Given the description of an element on the screen output the (x, y) to click on. 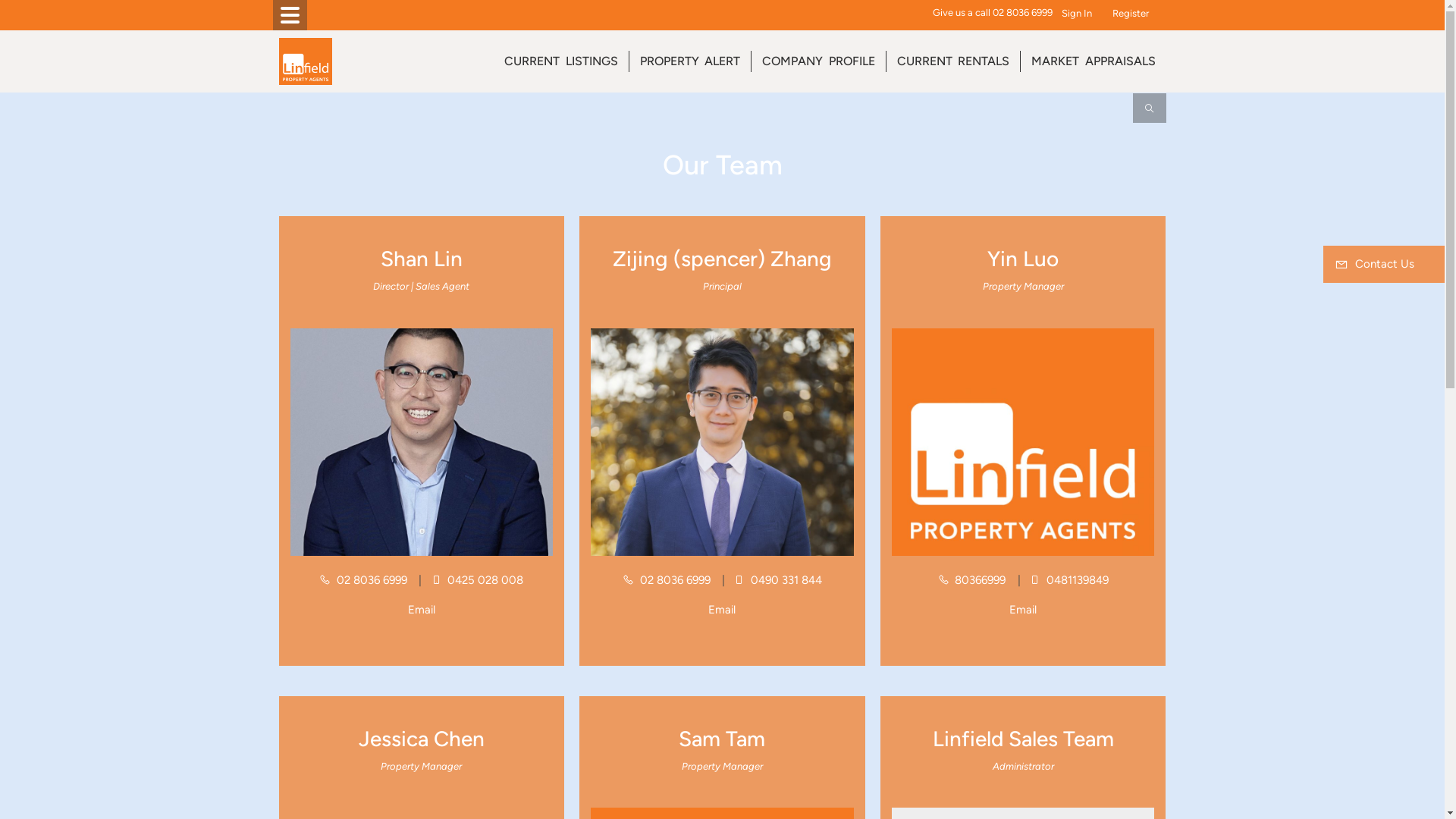
0490 331 844 Element type: text (777, 579)
Property Manager Element type: text (420, 765)
COMPANY
PROFILE Element type: text (818, 61)
Give us a call 02 8036 6999 Element type: text (992, 13)
Contact Us Element type: text (1383, 263)
MARKET
APPRAISALS Element type: text (1093, 61)
02 8036 6999 Element type: text (667, 579)
Principal Element type: text (721, 285)
Shan Lin Element type: text (420, 259)
Zijing (spencer) Zhang Element type: text (721, 259)
Login Element type: text (1122, 14)
80366999 Element type: text (973, 579)
Yin Luo Element type: text (1022, 259)
Sam Tam Element type: text (721, 739)
Linfield Sales Team Element type: text (1022, 739)
Email Element type: text (1022, 609)
Email Element type: text (721, 609)
Jessica Chen Element type: text (420, 739)
0425 028 008 Element type: text (477, 579)
0481139849 Element type: text (1068, 579)
PROPERTY
ALERT Element type: text (690, 61)
Email Element type: text (421, 609)
CURRENT
LISTINGS Element type: text (560, 61)
Property Manager Element type: text (1022, 285)
02 8036 6999 Element type: text (364, 579)
Register Element type: text (1130, 13)
Administrator Element type: text (1023, 765)
Director | Sales Agent Element type: text (421, 285)
? Element type: text (1155, 14)
Property Manager Element type: text (721, 765)
CURRENT
RENTALS Element type: text (952, 61)
Sign In Element type: text (1076, 13)
